Given the description of an element on the screen output the (x, y) to click on. 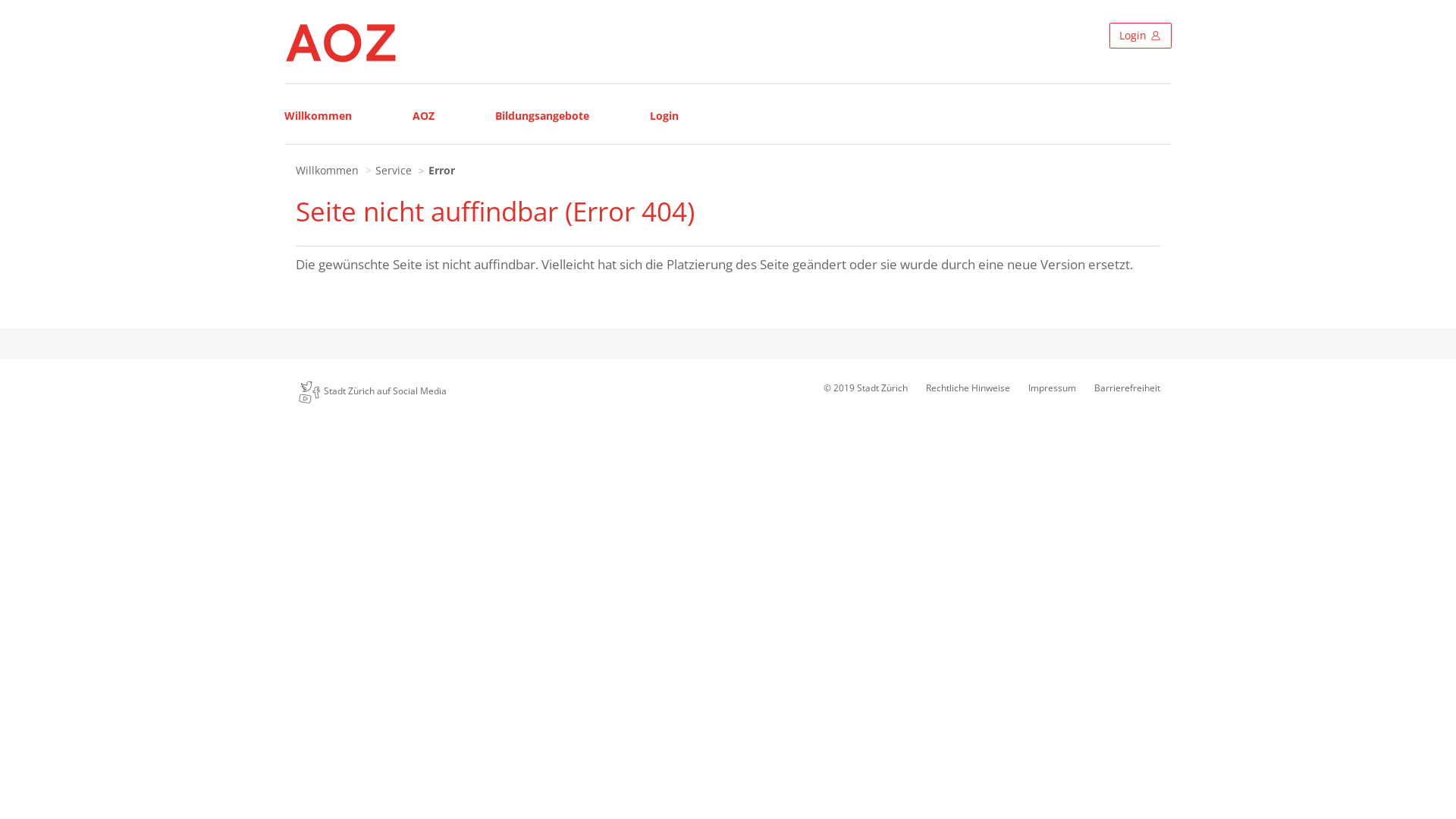
Service Element type: text (393, 170)
Barrierefreiheit Element type: text (1127, 387)
Willkommen Element type: text (317, 114)
Willkommen Element type: text (326, 170)
Rechtliche Hinweise Element type: text (967, 387)
Login Element type: text (1140, 35)
Impressum Element type: text (1052, 387)
AOZ Element type: text (423, 114)
Bildungsangebote Element type: text (542, 114)
Login Element type: text (663, 114)
Error Element type: text (441, 170)
